Given the description of an element on the screen output the (x, y) to click on. 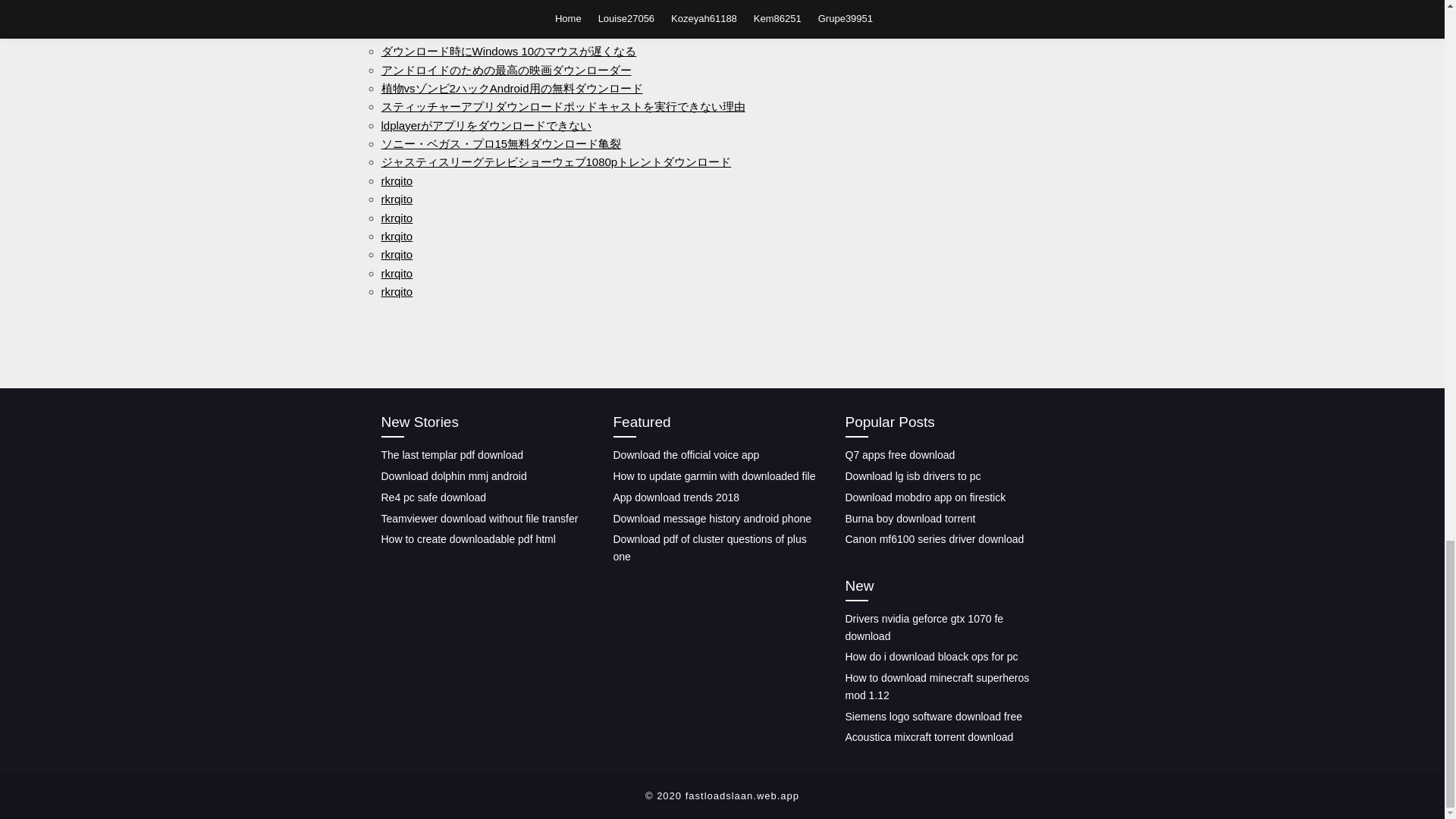
The last templar pdf download (451, 454)
rkrqito (396, 273)
Burna boy download torrent (909, 518)
rkrqito (396, 291)
Download mobdro app on firestick (925, 497)
Download message history android phone (711, 518)
rkrqito (396, 254)
App download trends 2018 (675, 497)
rkrqito (396, 236)
How to create downloadable pdf html (467, 539)
